Given the description of an element on the screen output the (x, y) to click on. 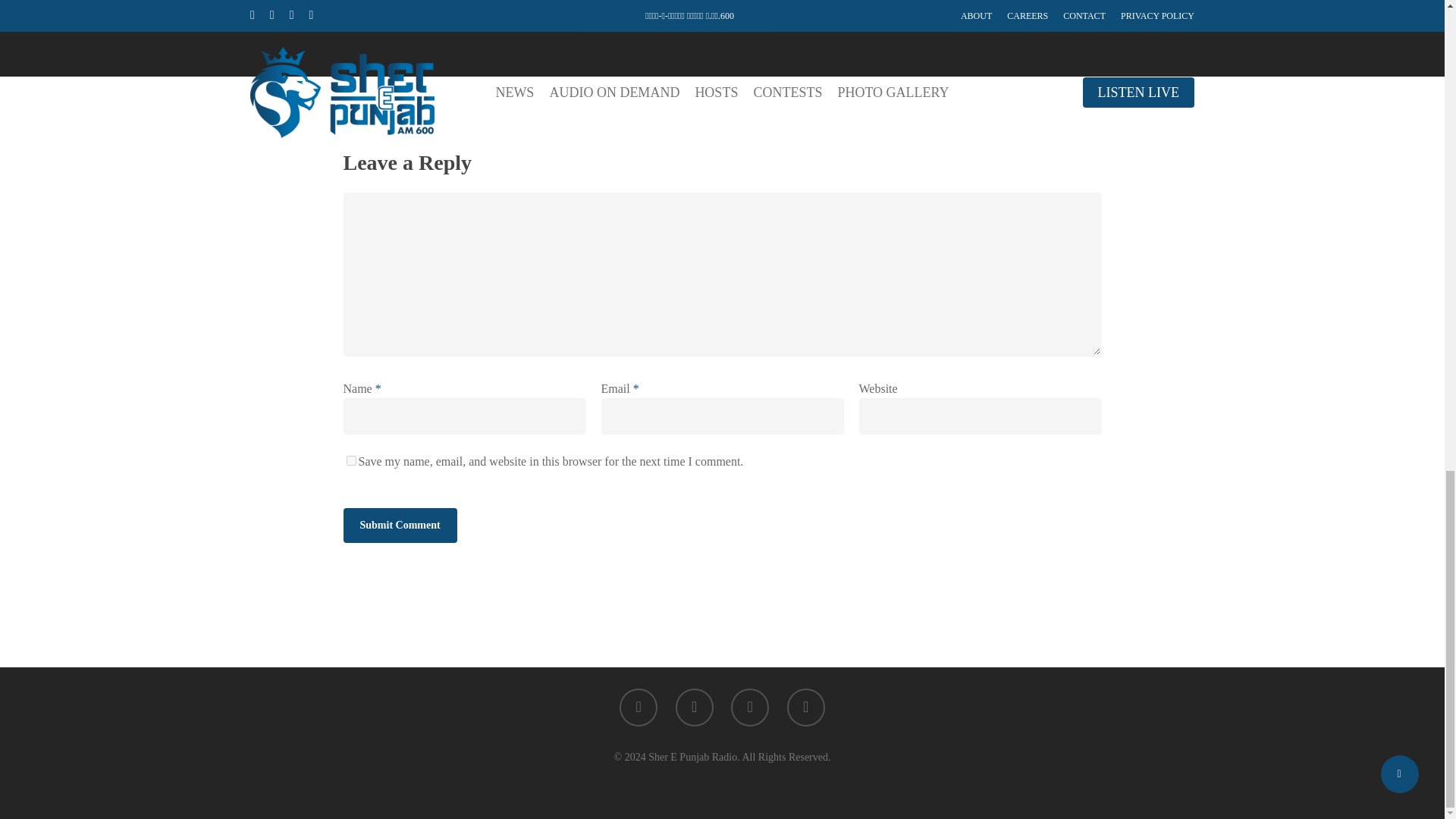
Submit Comment (399, 524)
yes (350, 460)
Submit Comment (399, 524)
